Given the description of an element on the screen output the (x, y) to click on. 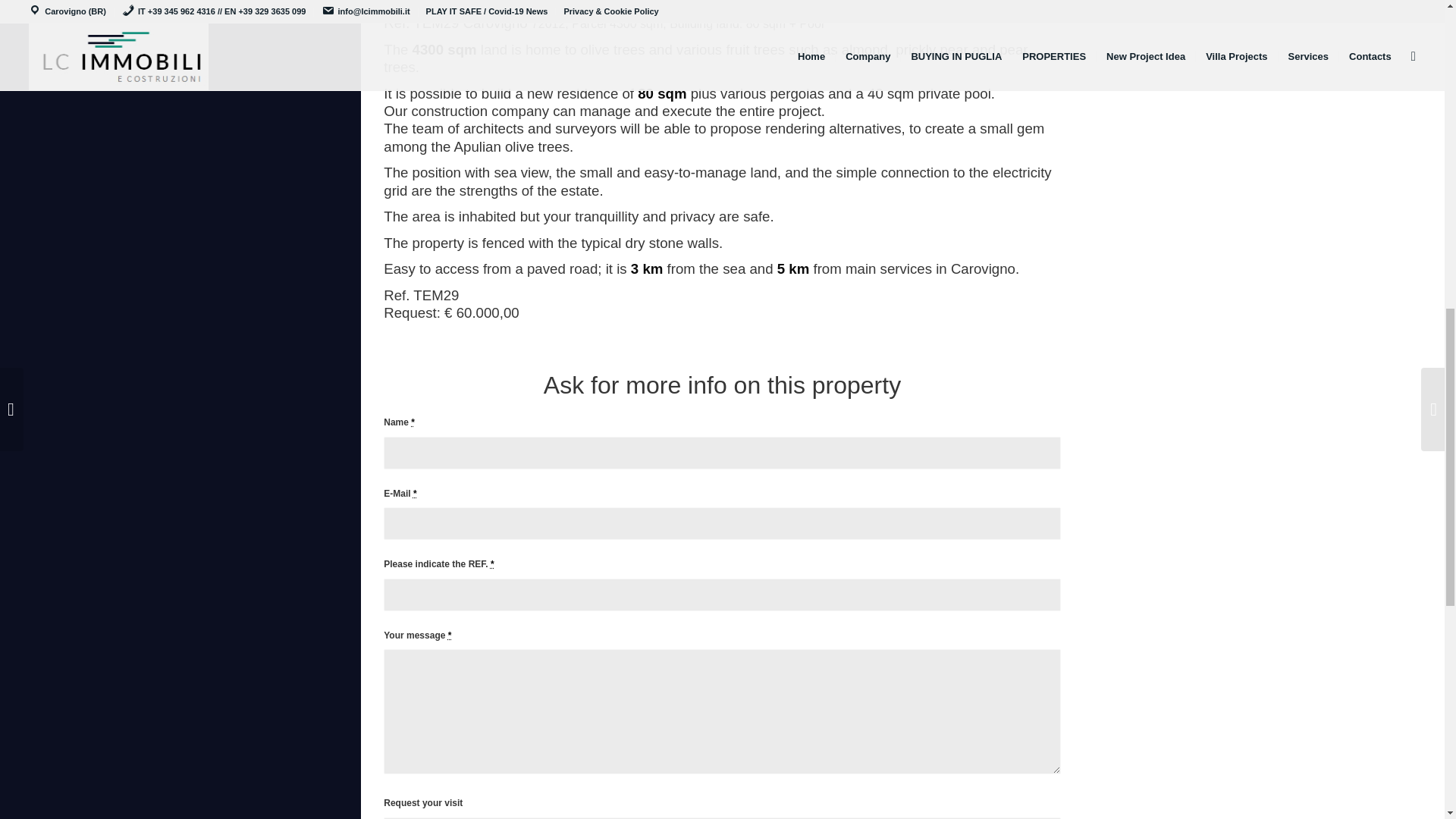
required (412, 421)
